Given the description of an element on the screen output the (x, y) to click on. 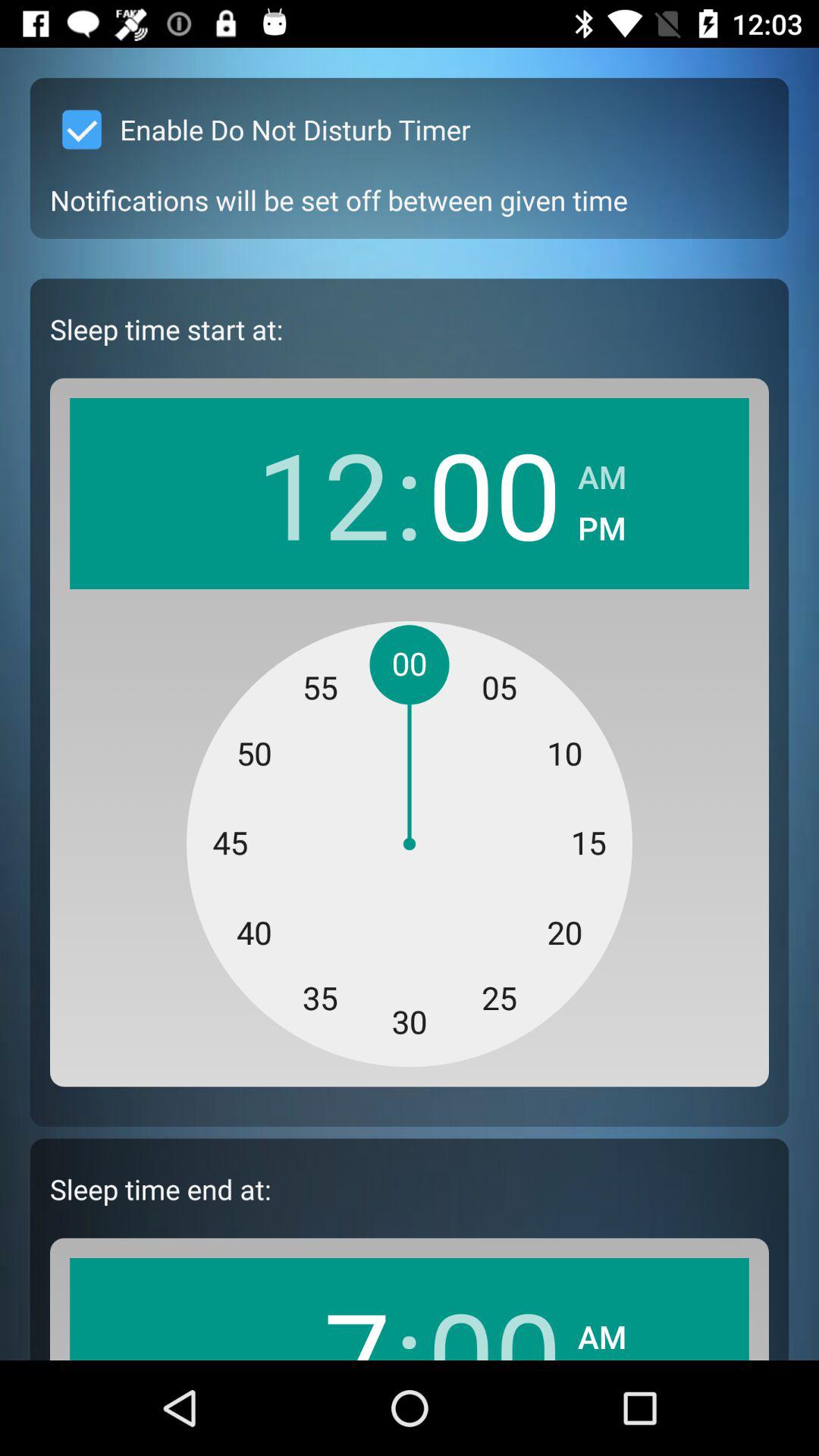
turn off app below the sleep time end app (323, 1317)
